Given the description of an element on the screen output the (x, y) to click on. 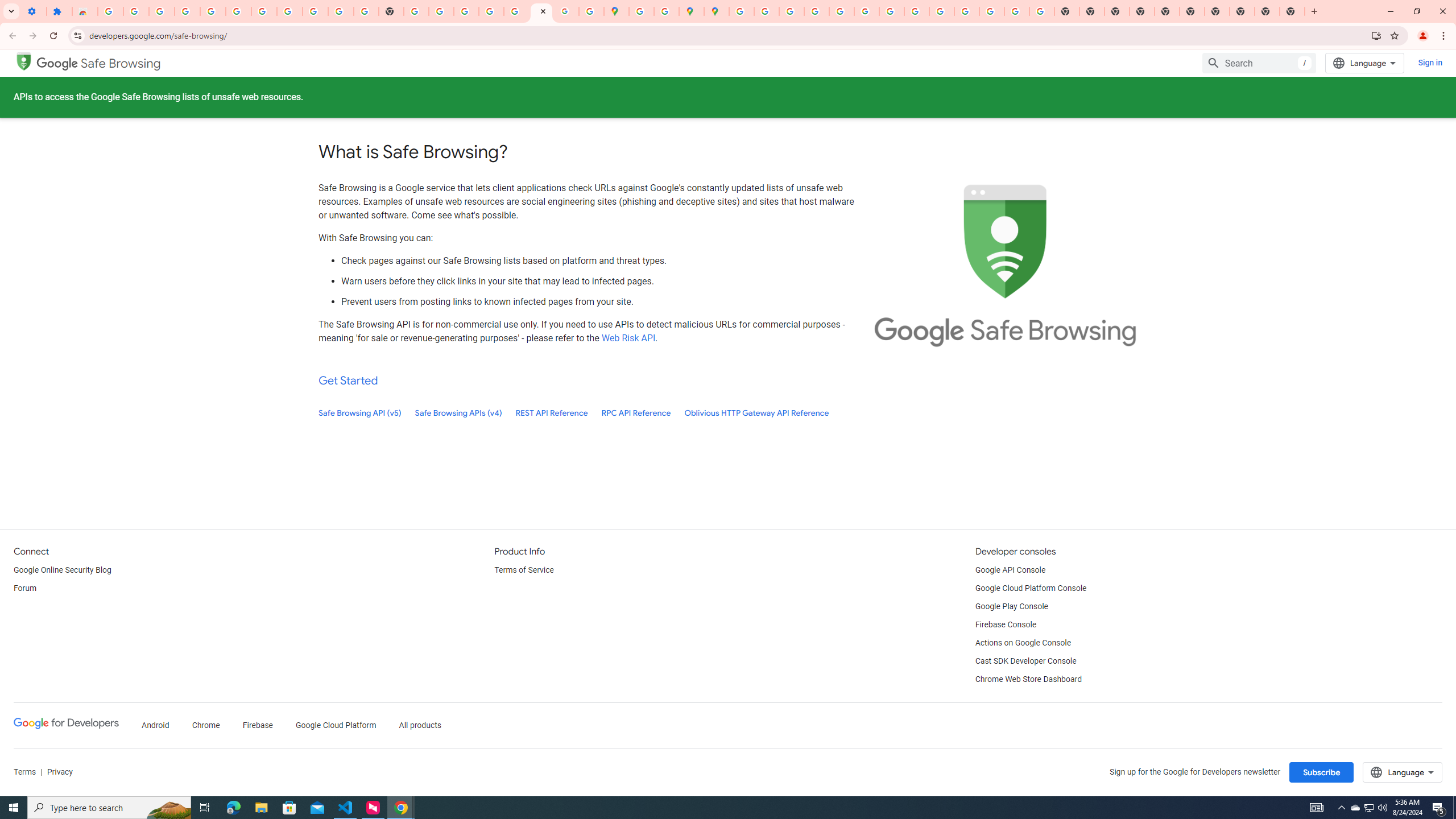
Google Cloud Platform Console (1030, 588)
Google Developers (66, 723)
Google Maps (616, 11)
Google Online Security Blog (62, 570)
Google API Console (1010, 570)
